Given the description of an element on the screen output the (x, y) to click on. 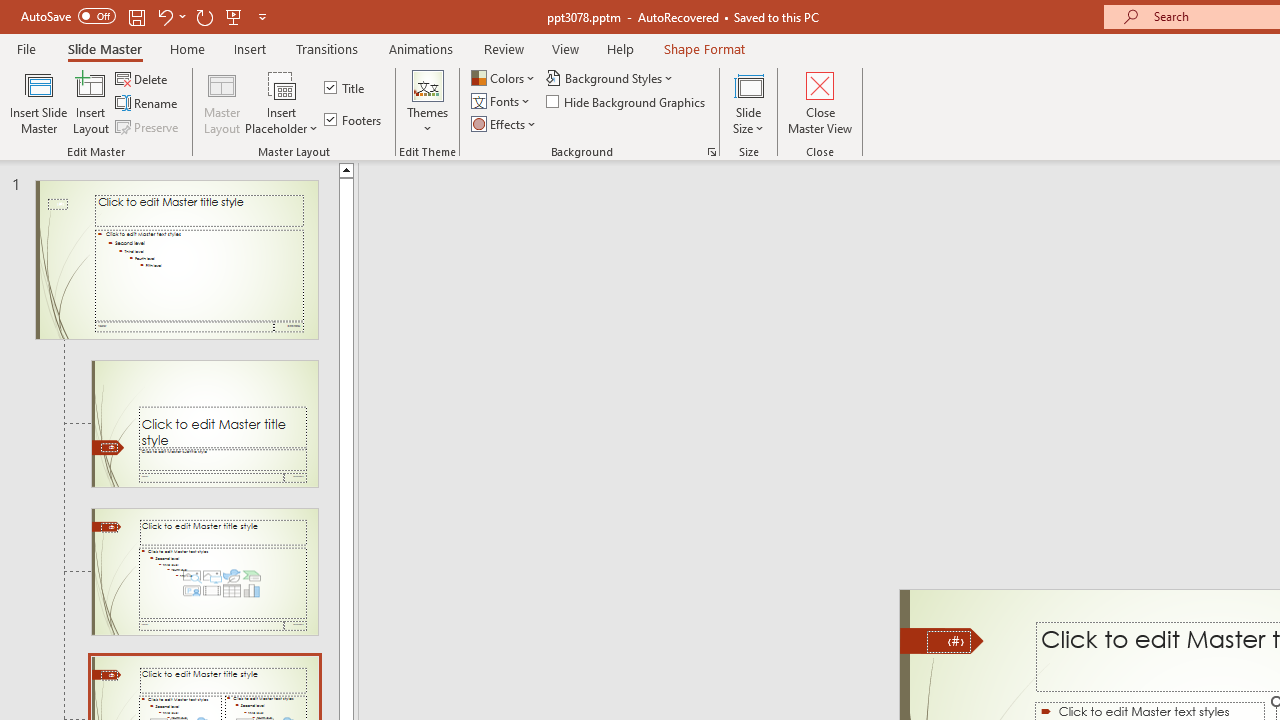
Slide Size (749, 102)
Preserve (148, 126)
Close Master View (820, 102)
Master Layout... (221, 102)
Colors (504, 78)
Insert Layout (91, 102)
Themes (427, 102)
